Given the description of an element on the screen output the (x, y) to click on. 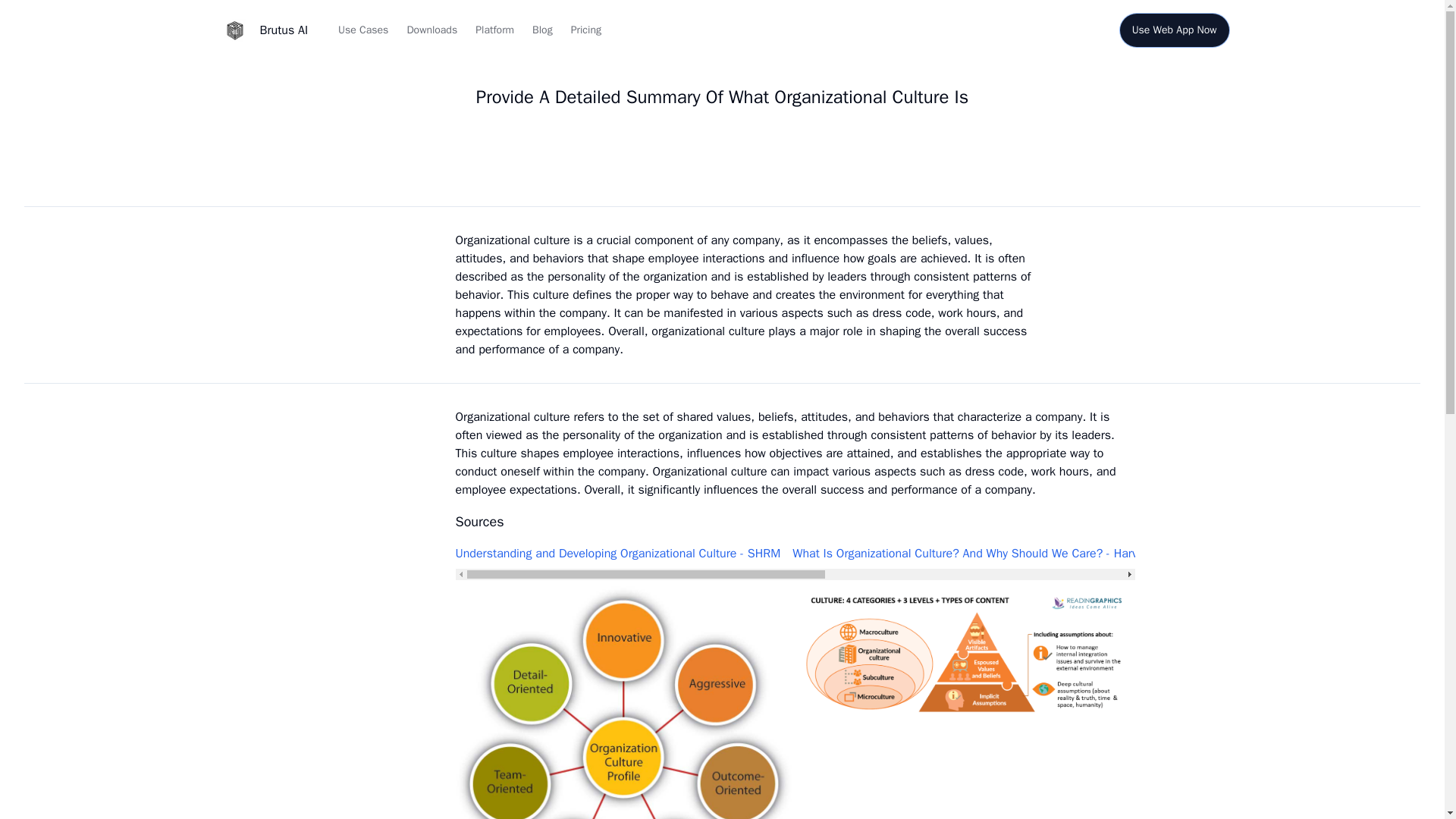
Brutus AI (261, 30)
Use Web App Now (1173, 29)
Use Cases (362, 30)
Downloads (431, 30)
Understanding and Developing Organizational Culture - SHRM (617, 553)
Platform (494, 30)
